Given the description of an element on the screen output the (x, y) to click on. 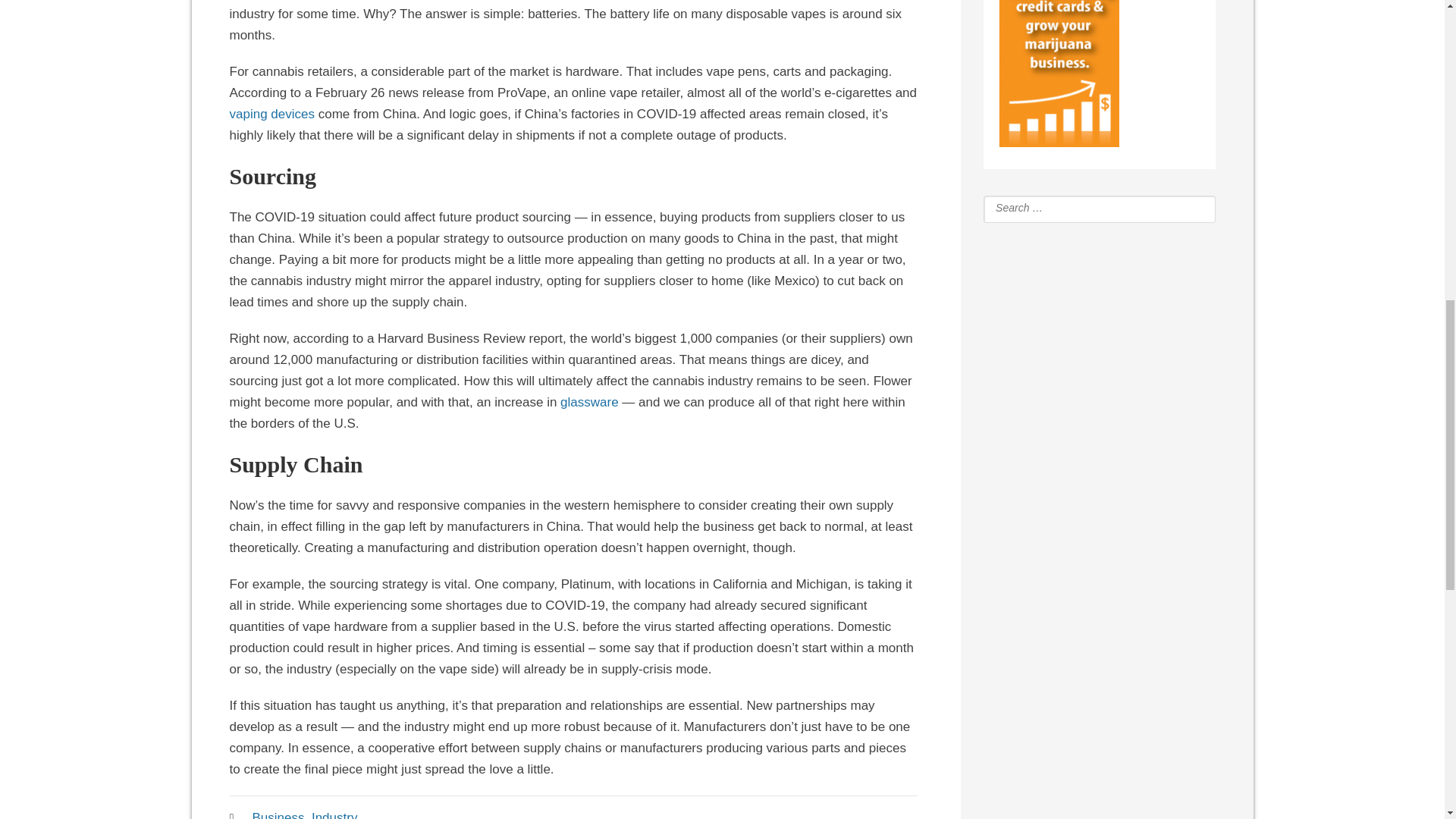
glassware (589, 402)
Search for: (1086, 207)
vaping devices (271, 114)
Industry (333, 814)
Search (1196, 207)
Search (1196, 207)
Business (277, 814)
Search (1196, 207)
